Given the description of an element on the screen output the (x, y) to click on. 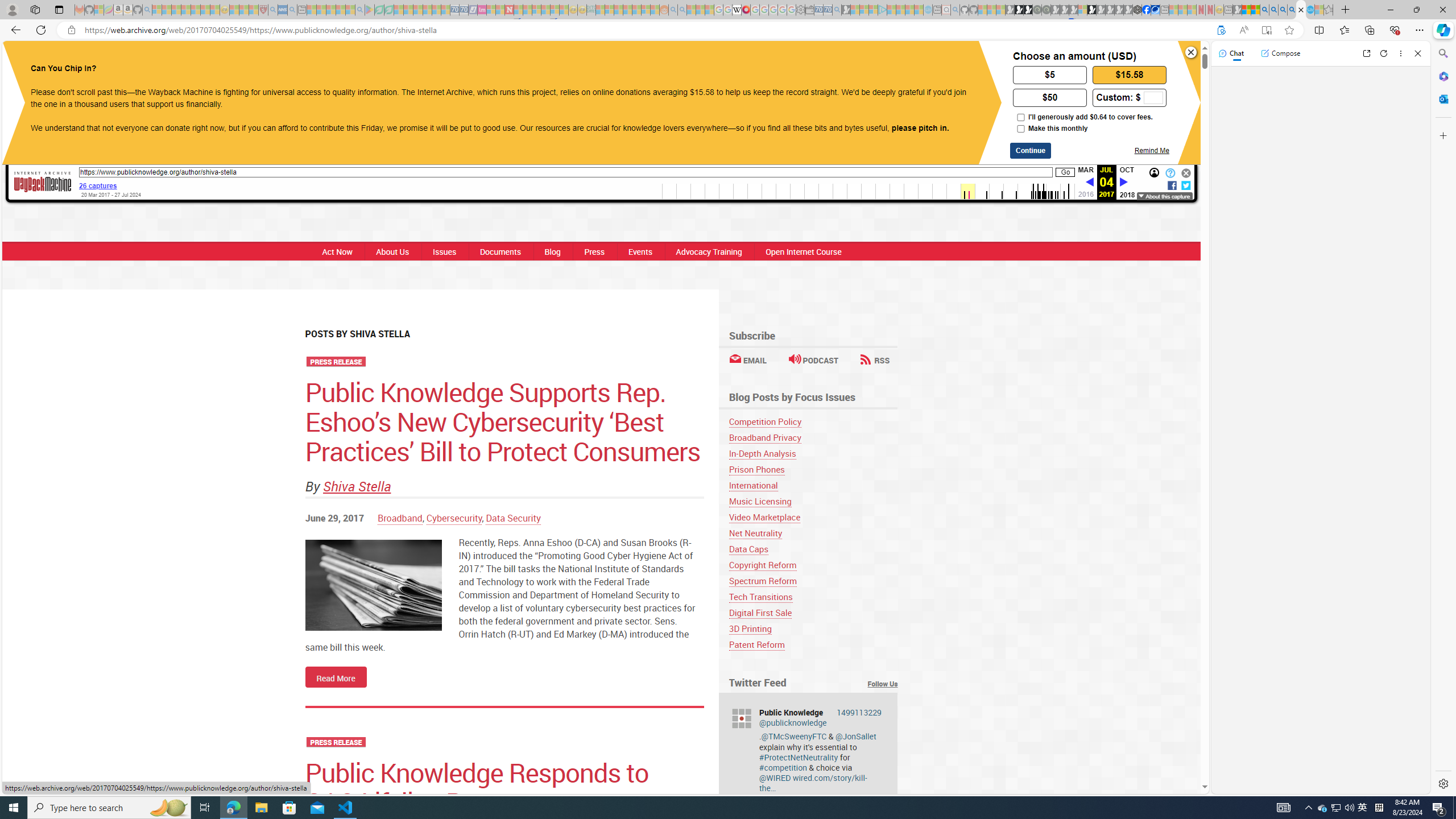
Tech Transitions (760, 596)
Broadband Privacy (764, 437)
Issues (443, 251)
Shiva Stella - Public Knowledge (1300, 9)
Compose (1280, 52)
International (752, 485)
Music Licensing (760, 500)
TWITTER (692, 60)
Patent Reform (756, 644)
